Given the description of an element on the screen output the (x, y) to click on. 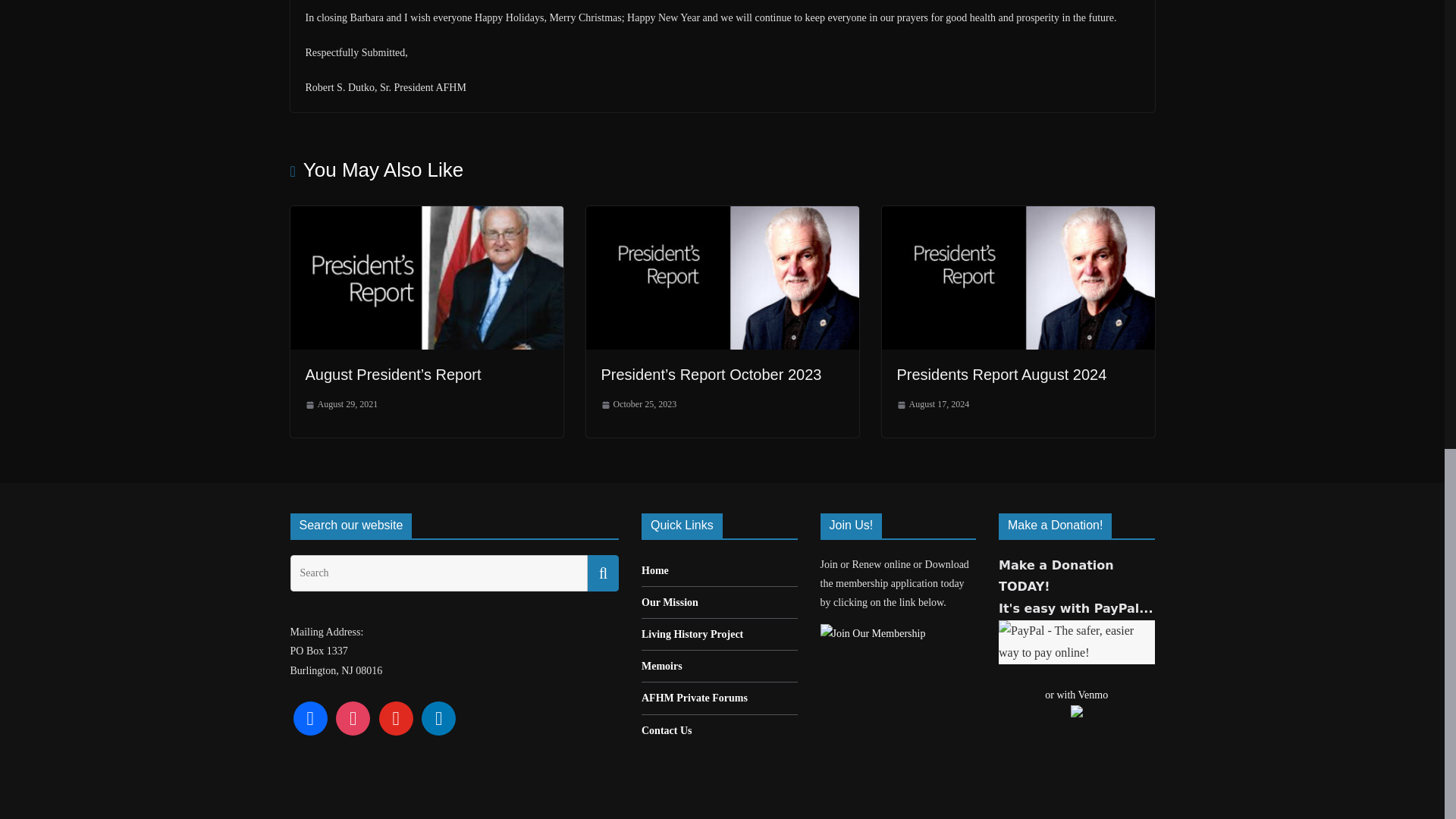
5:16 pm (340, 404)
Presidents Report August 2024 (1001, 374)
1:08 pm (638, 404)
Presidents Report August 2024 (1017, 215)
